Given the description of an element on the screen output the (x, y) to click on. 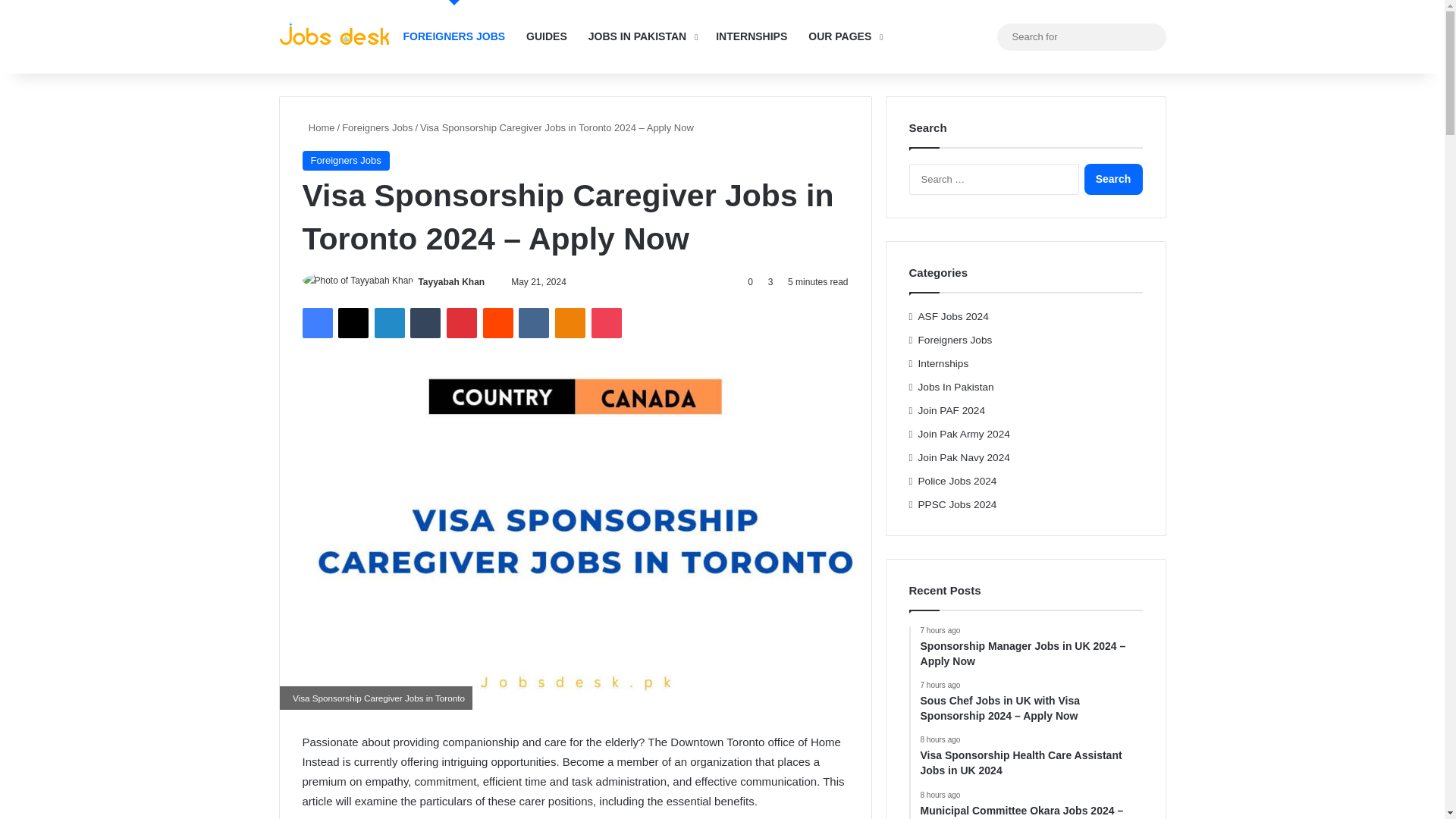
Pocket (606, 322)
LinkedIn (389, 322)
INTERNSHIPS (750, 36)
JOBS IN PAKISTAN (641, 36)
Tayyabah Khan (450, 281)
Pocket (606, 322)
Facebook (316, 322)
Search (1113, 178)
Pinterest (461, 322)
Visa Sponsorship Jobs (336, 36)
OUR PAGES (843, 36)
Facebook (316, 322)
Search for (1150, 35)
Tumblr (425, 322)
Foreigners Jobs (377, 127)
